Given the description of an element on the screen output the (x, y) to click on. 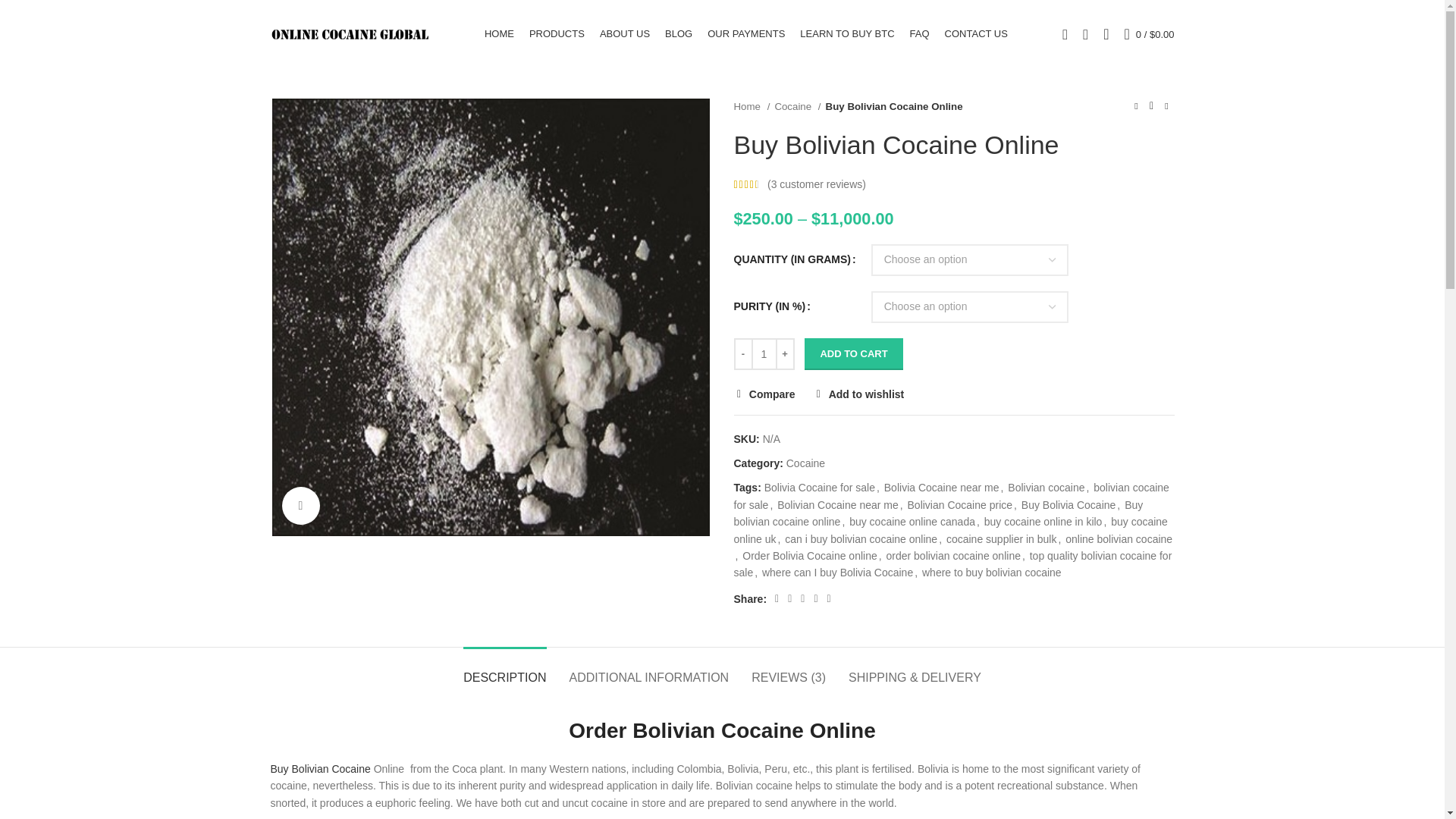
Shopping cart (1149, 33)
Bolivian cocaine (1045, 487)
Add to wishlist (858, 394)
BLOG (679, 33)
Compare (763, 394)
Bolivia Cocaine near me (940, 487)
Cocaine (805, 463)
bolivian cocaine for sale (951, 495)
Home (751, 106)
Bolivia Cocaine for sale (819, 487)
Bolivian Cocaine near me (837, 504)
CONTACT US (975, 33)
HOME (499, 33)
LEARN TO BUY BTC (846, 33)
